Given the description of an element on the screen output the (x, y) to click on. 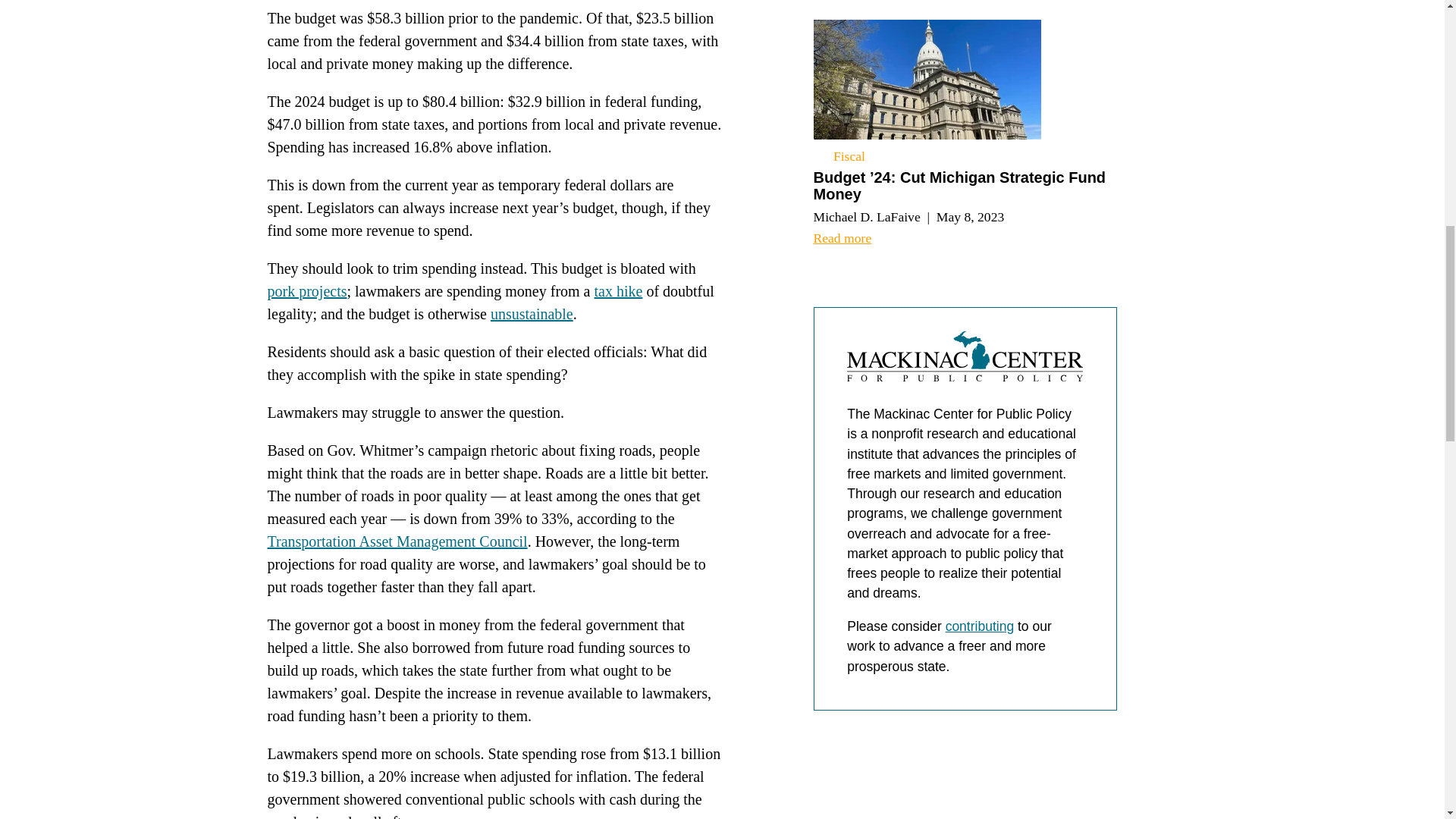
tax hike (618, 290)
Transportation Asset Management Council (396, 541)
Fiscal (838, 155)
unsustainable (531, 313)
pork projects (306, 290)
